Given the description of an element on the screen output the (x, y) to click on. 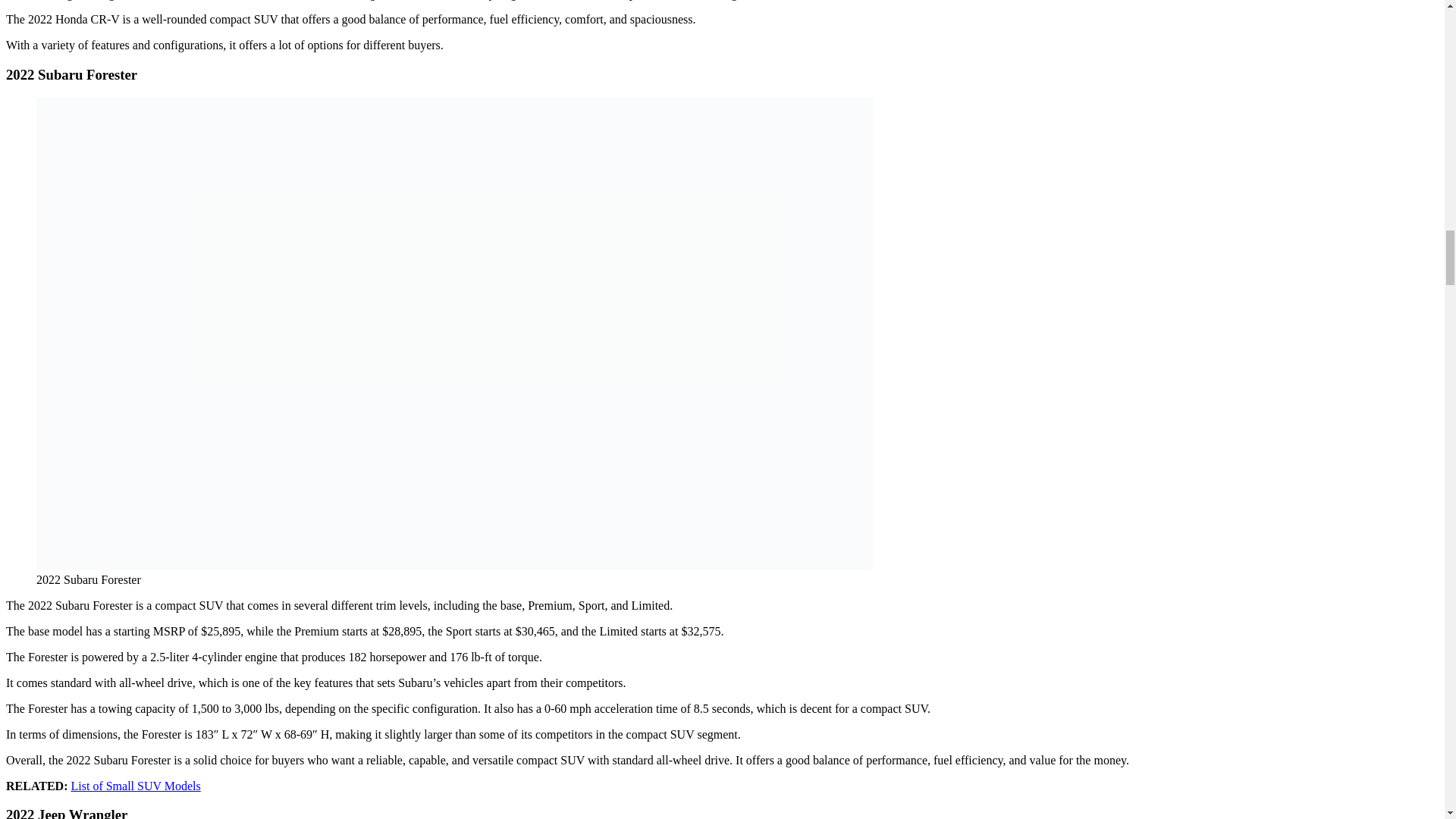
List of Small SUV Models (135, 785)
